Given the description of an element on the screen output the (x, y) to click on. 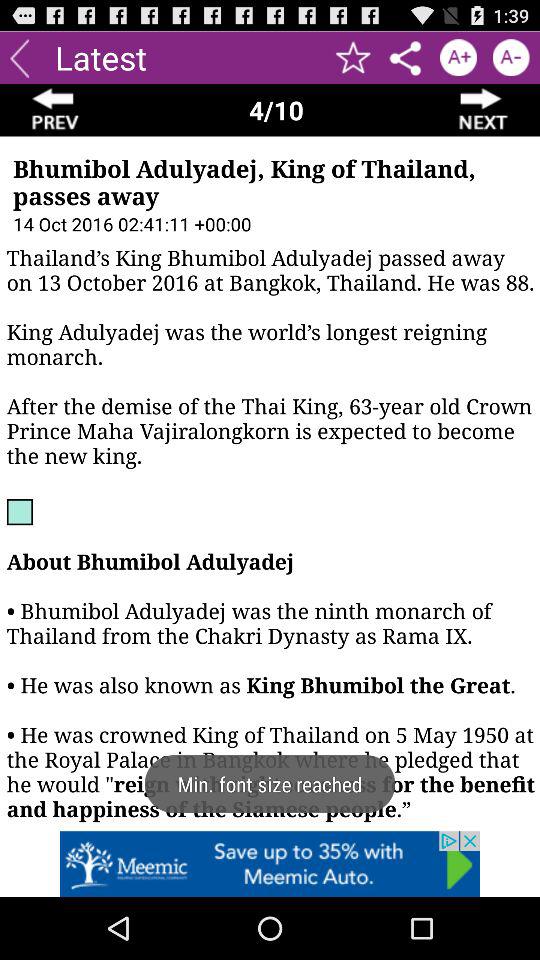
go to previous go back (55, 110)
